Given the description of an element on the screen output the (x, y) to click on. 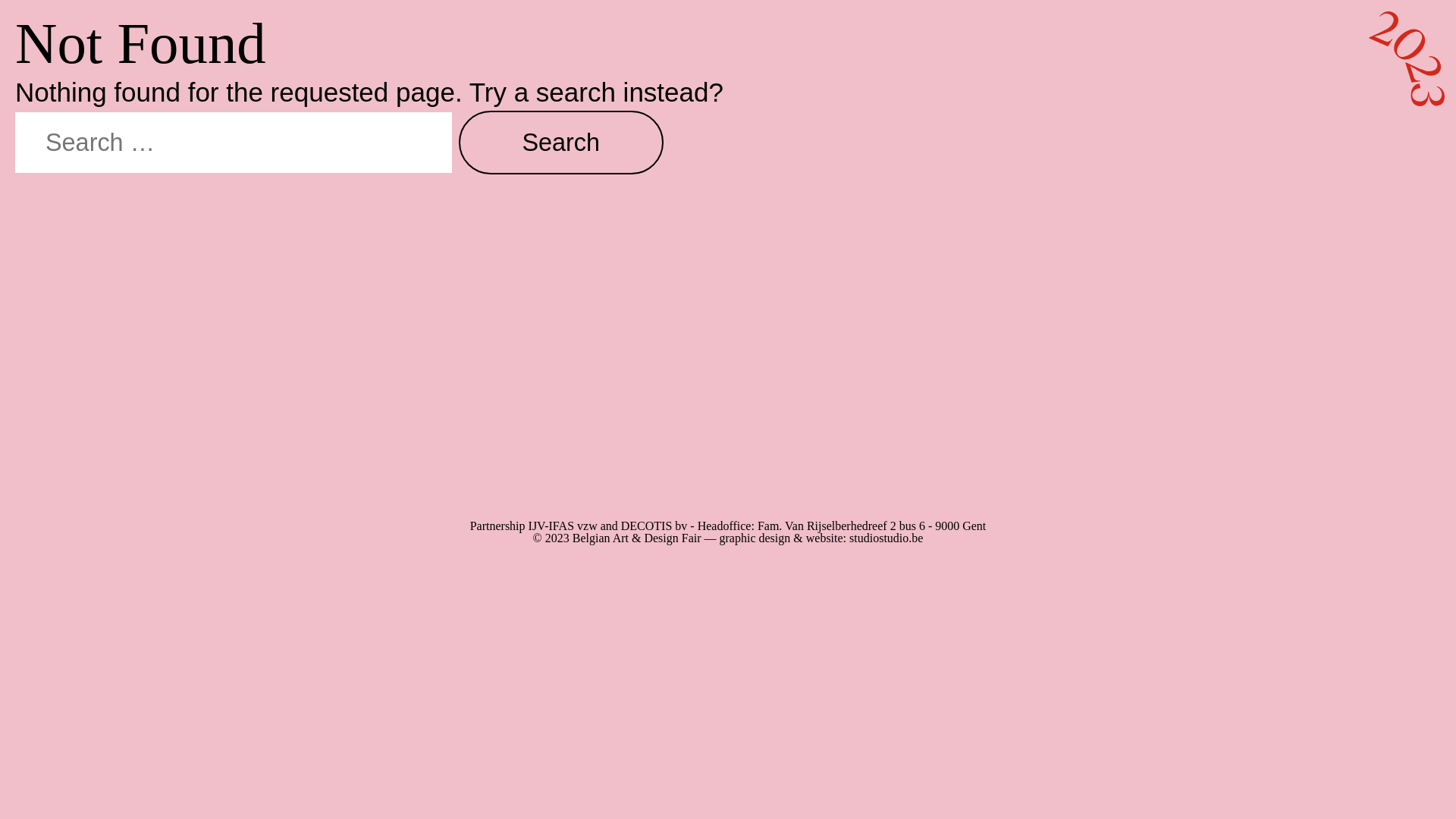
Search Element type: text (560, 142)
studiostudio.be Element type: text (885, 537)
